Given the description of an element on the screen output the (x, y) to click on. 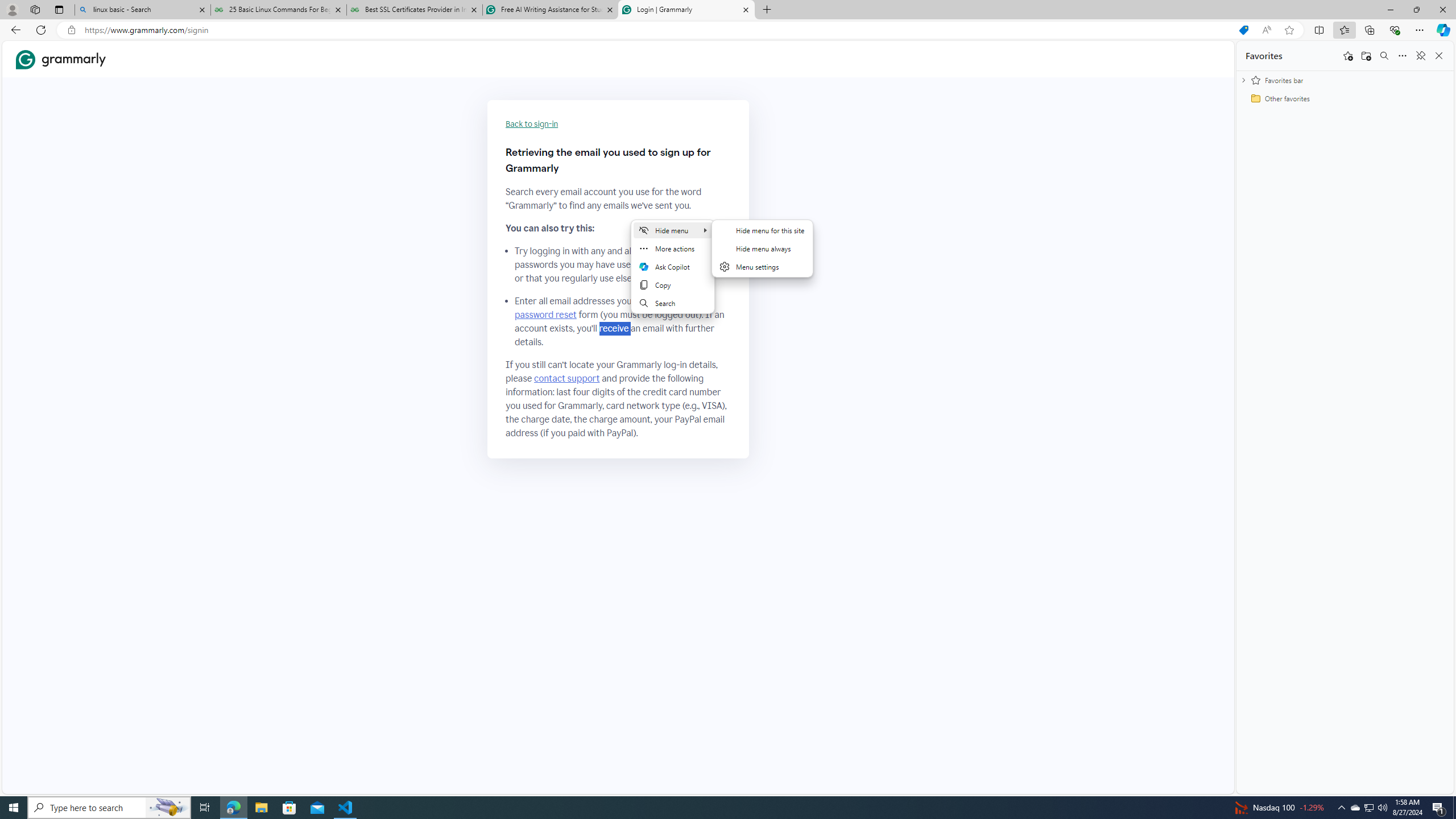
Hide menu (761, 248)
password reset (545, 314)
Grammarly Home (61, 59)
Add folder (1366, 55)
25 Basic Linux Commands For Beginners - GeeksforGeeks (277, 9)
Search favorites (1383, 55)
Mini menu on text selection (672, 273)
